Given the description of an element on the screen output the (x, y) to click on. 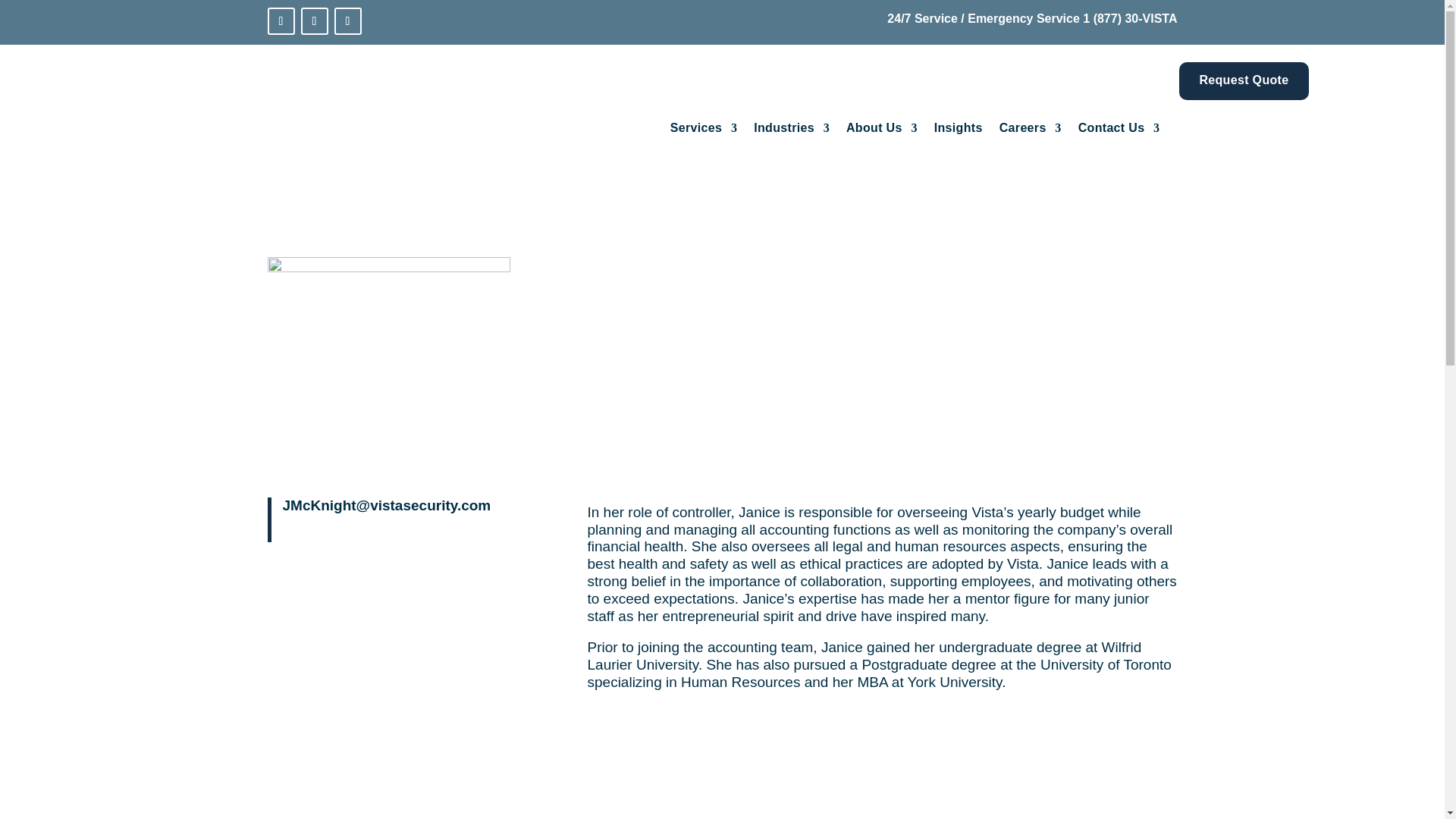
Follow on Facebook (313, 21)
Follow on Instagram (347, 21)
janice (387, 364)
Follow on LinkedIn (280, 21)
